Given the description of an element on the screen output the (x, y) to click on. 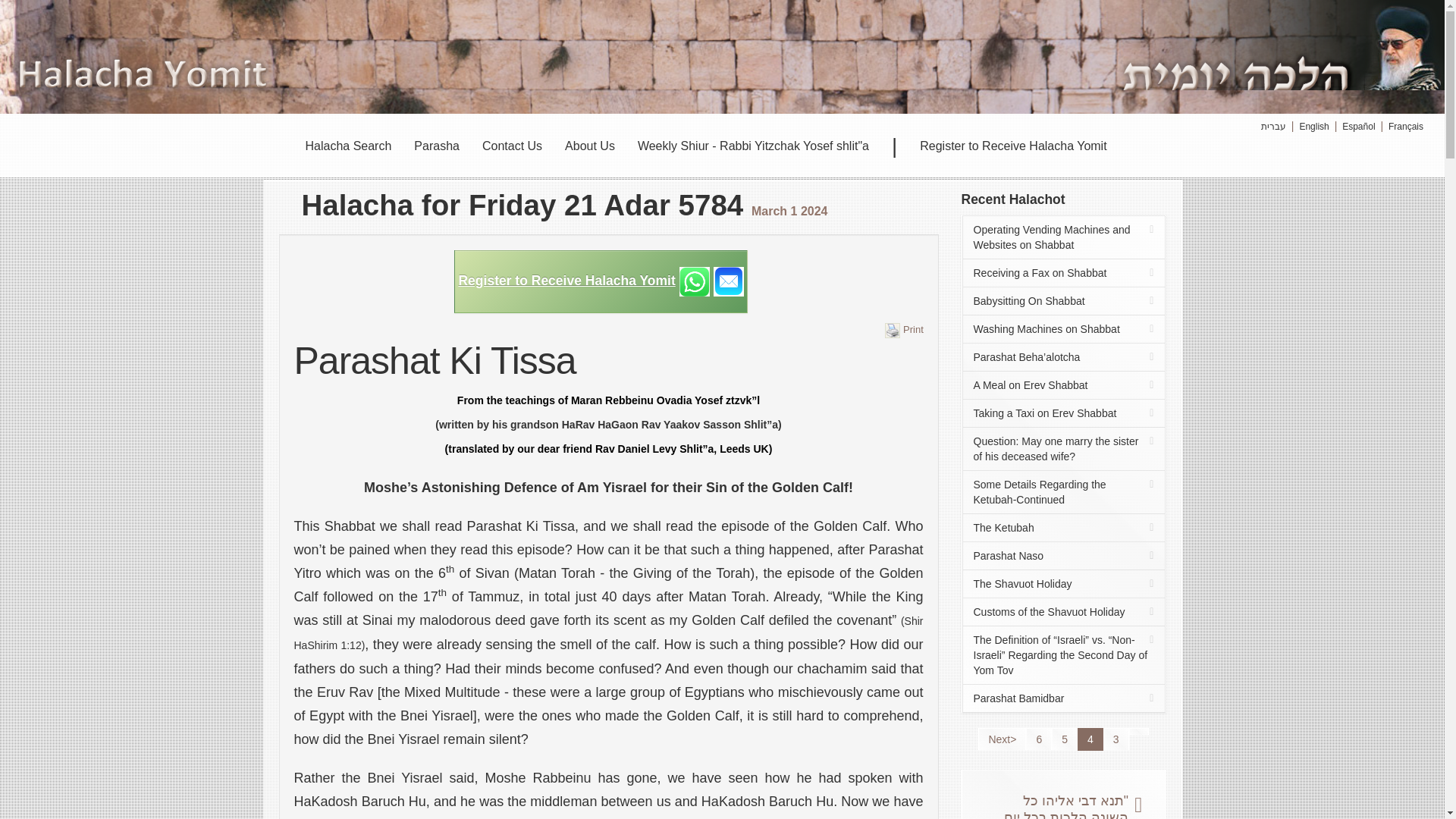
Contact Us (511, 146)
Parashat Naso (1062, 555)
5 (1064, 739)
Customs of the Shavuot Holiday (1062, 611)
Operating Vending Machines and Websites on Shabbat (1062, 237)
About Us (589, 146)
6 (1038, 739)
Question: May one marry the sister of his deceased wife? (1062, 448)
English (1312, 126)
Print (904, 328)
